Given the description of an element on the screen output the (x, y) to click on. 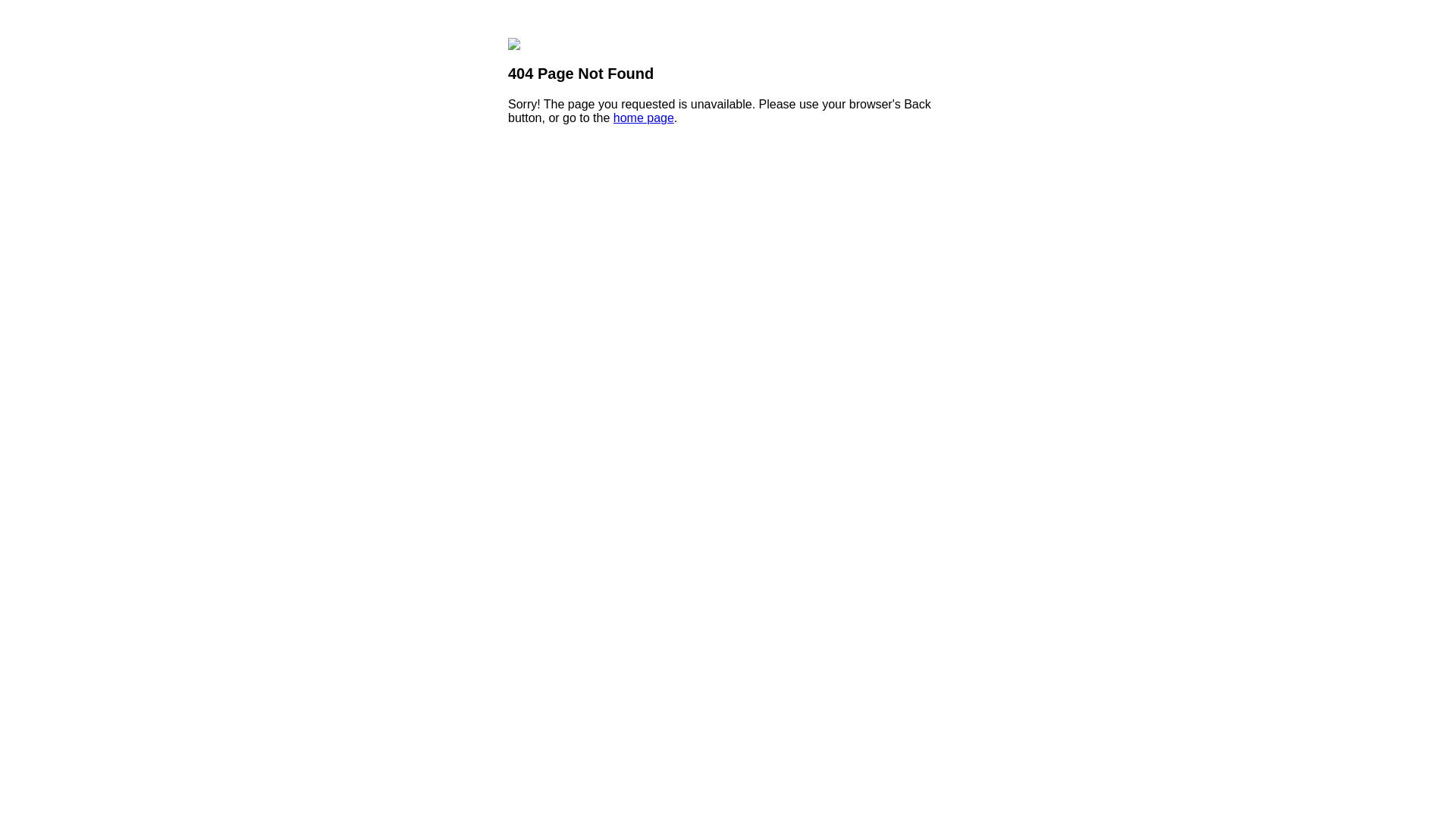
home page Element type: text (643, 117)
